Given the description of an element on the screen output the (x, y) to click on. 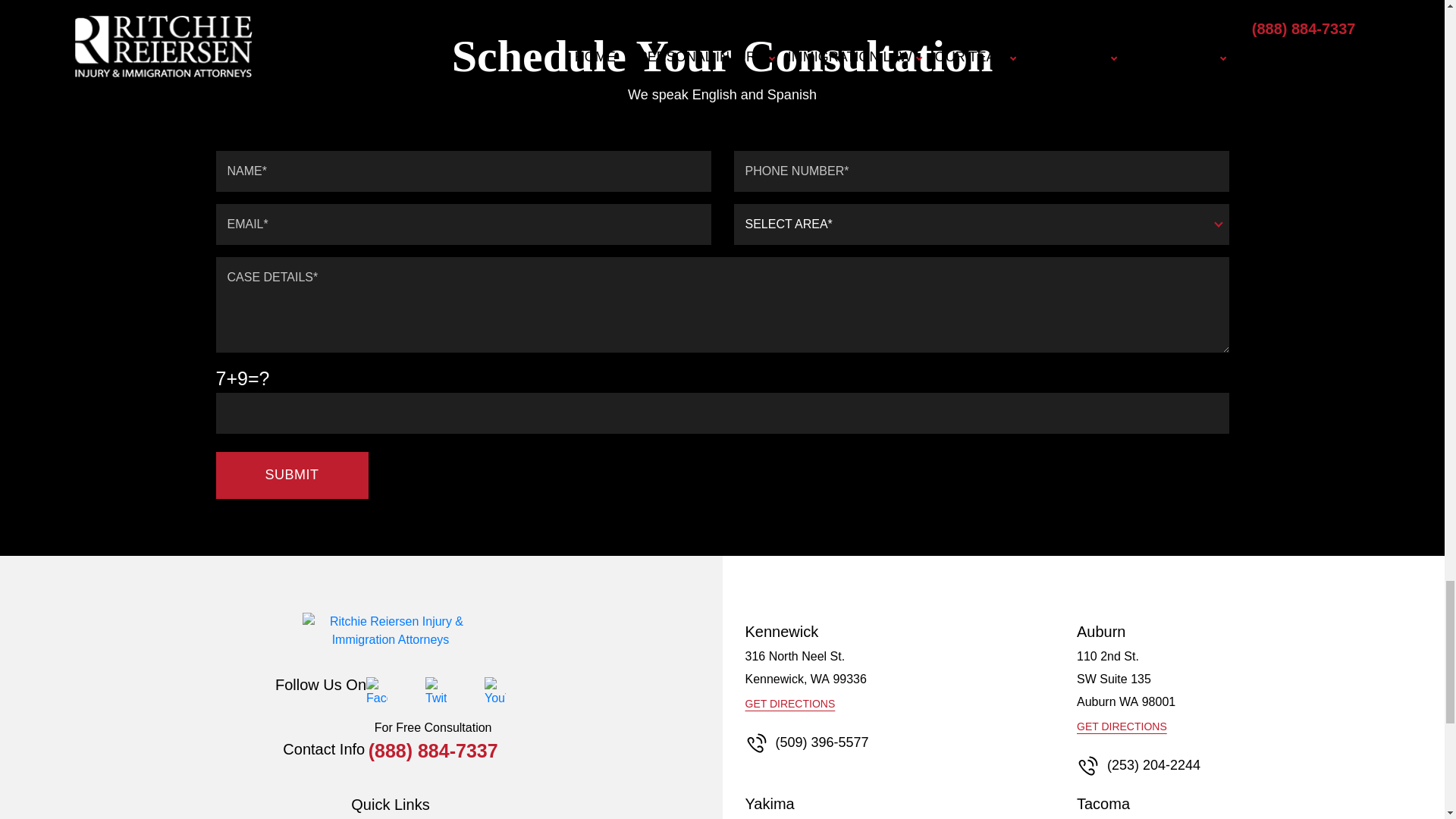
Submit (291, 475)
